Given the description of an element on the screen output the (x, y) to click on. 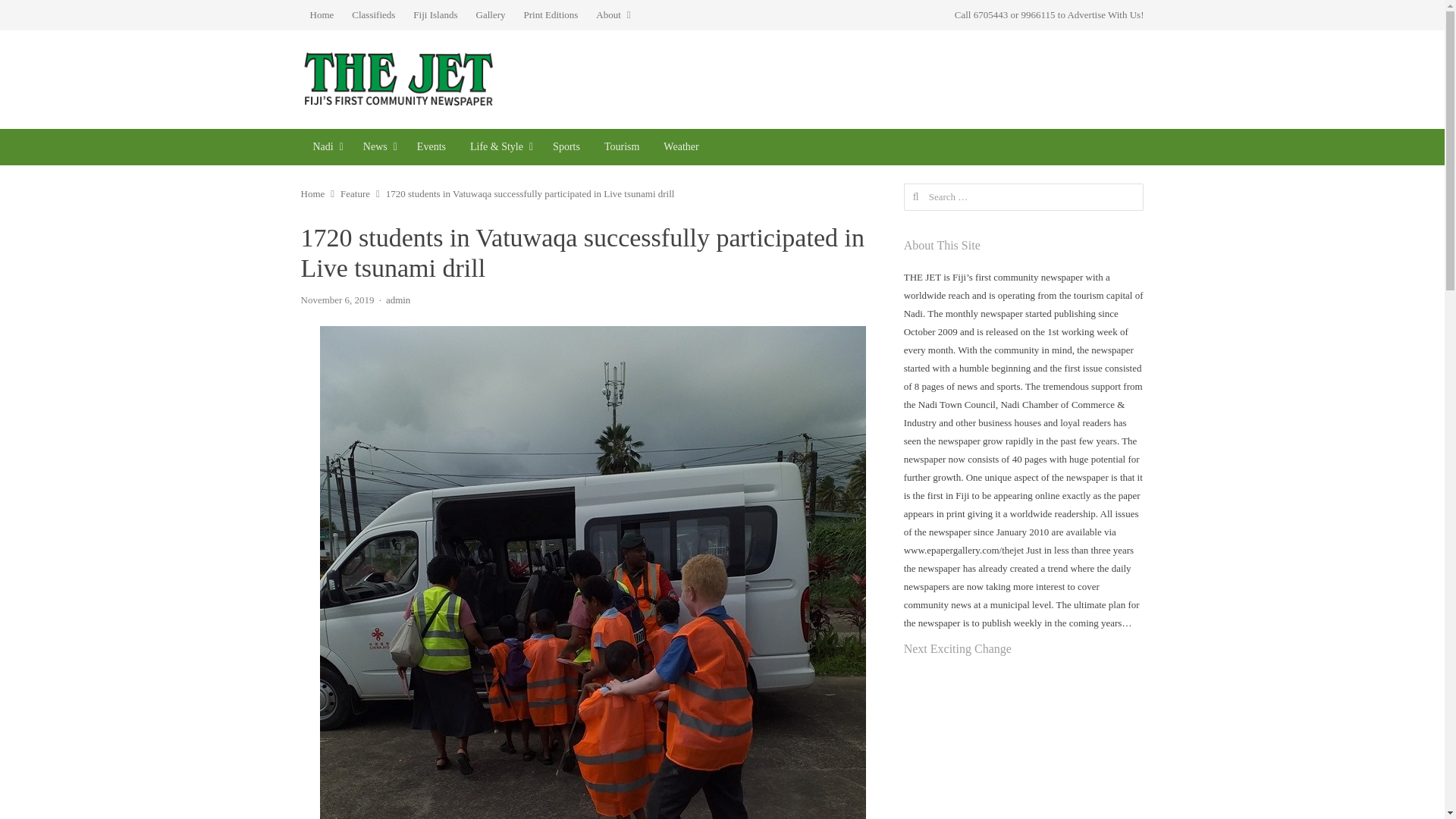
Classifieds (373, 14)
NADI CDN (324, 146)
Fiji Islands (434, 14)
Gallery (491, 14)
Print Editions (549, 14)
About (612, 14)
Home (320, 14)
